Given the description of an element on the screen output the (x, y) to click on. 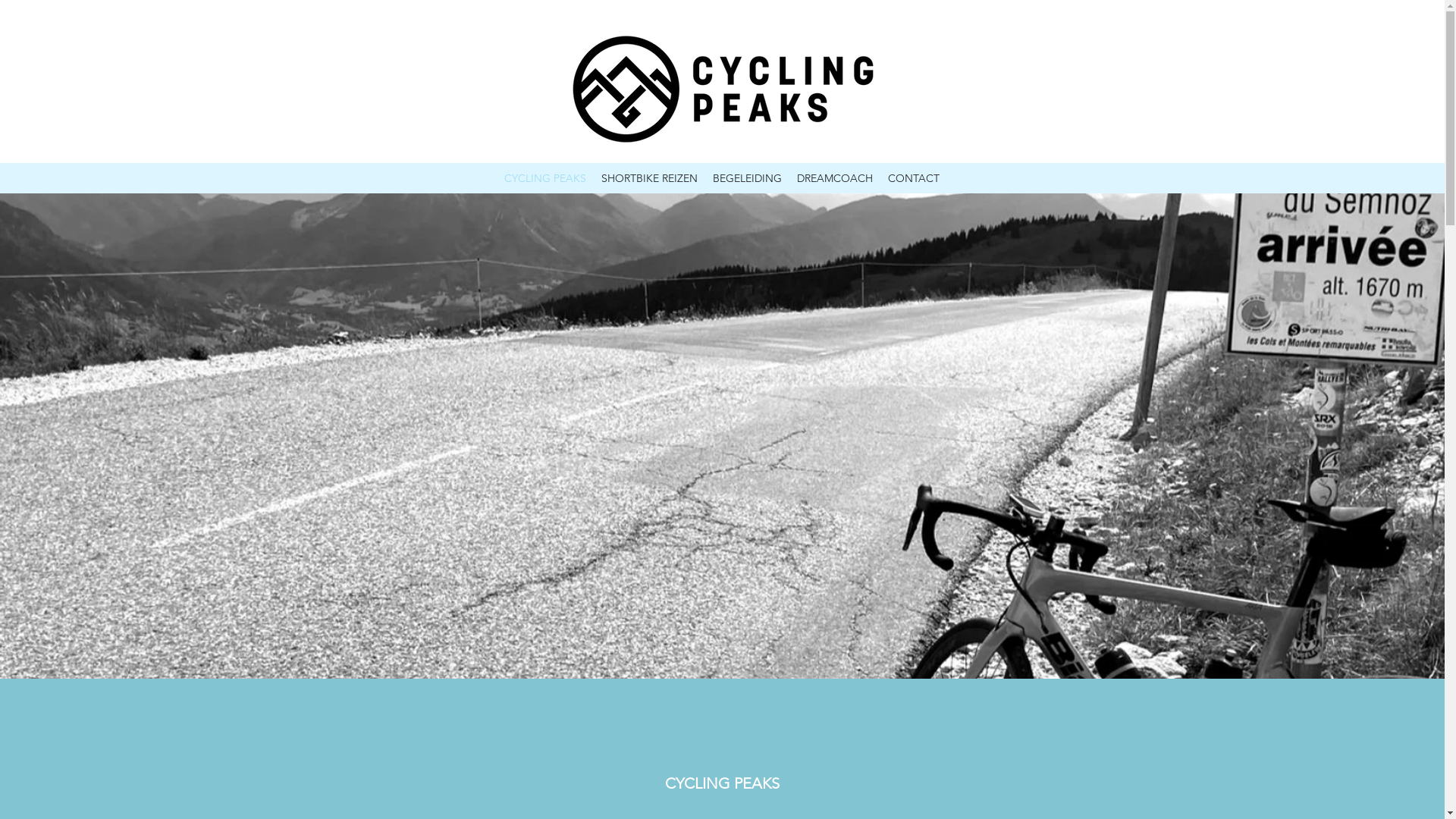
CONTACT Element type: text (913, 177)
SHORTBIKE REIZEN Element type: text (649, 177)
BEGELEIDING Element type: text (747, 177)
CYCLING PEAKS Element type: text (544, 177)
DREAMCOACH Element type: text (834, 177)
